Given the description of an element on the screen output the (x, y) to click on. 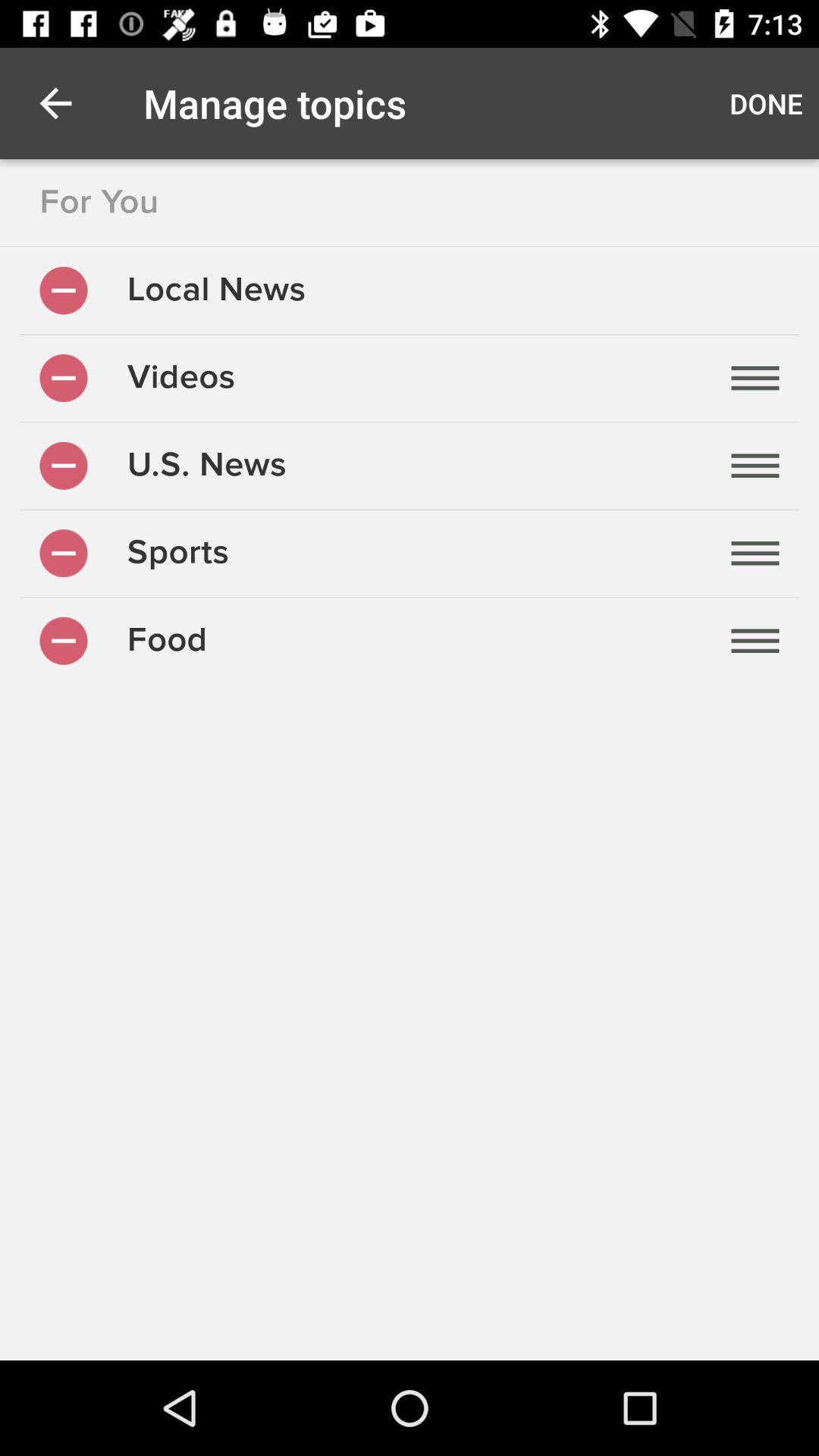
remove topic (63, 553)
